Given the description of an element on the screen output the (x, y) to click on. 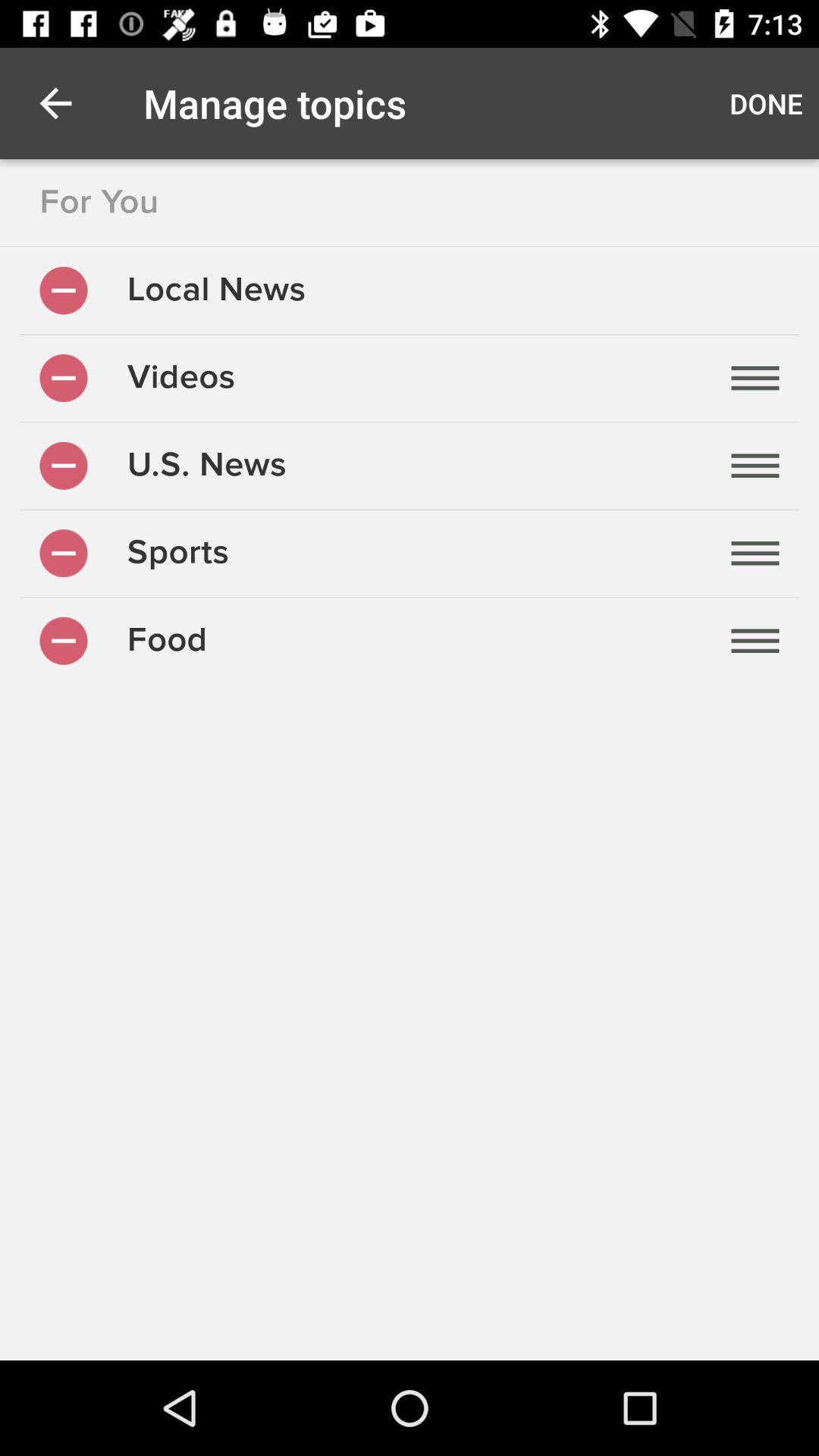
remove topic (63, 553)
